Given the description of an element on the screen output the (x, y) to click on. 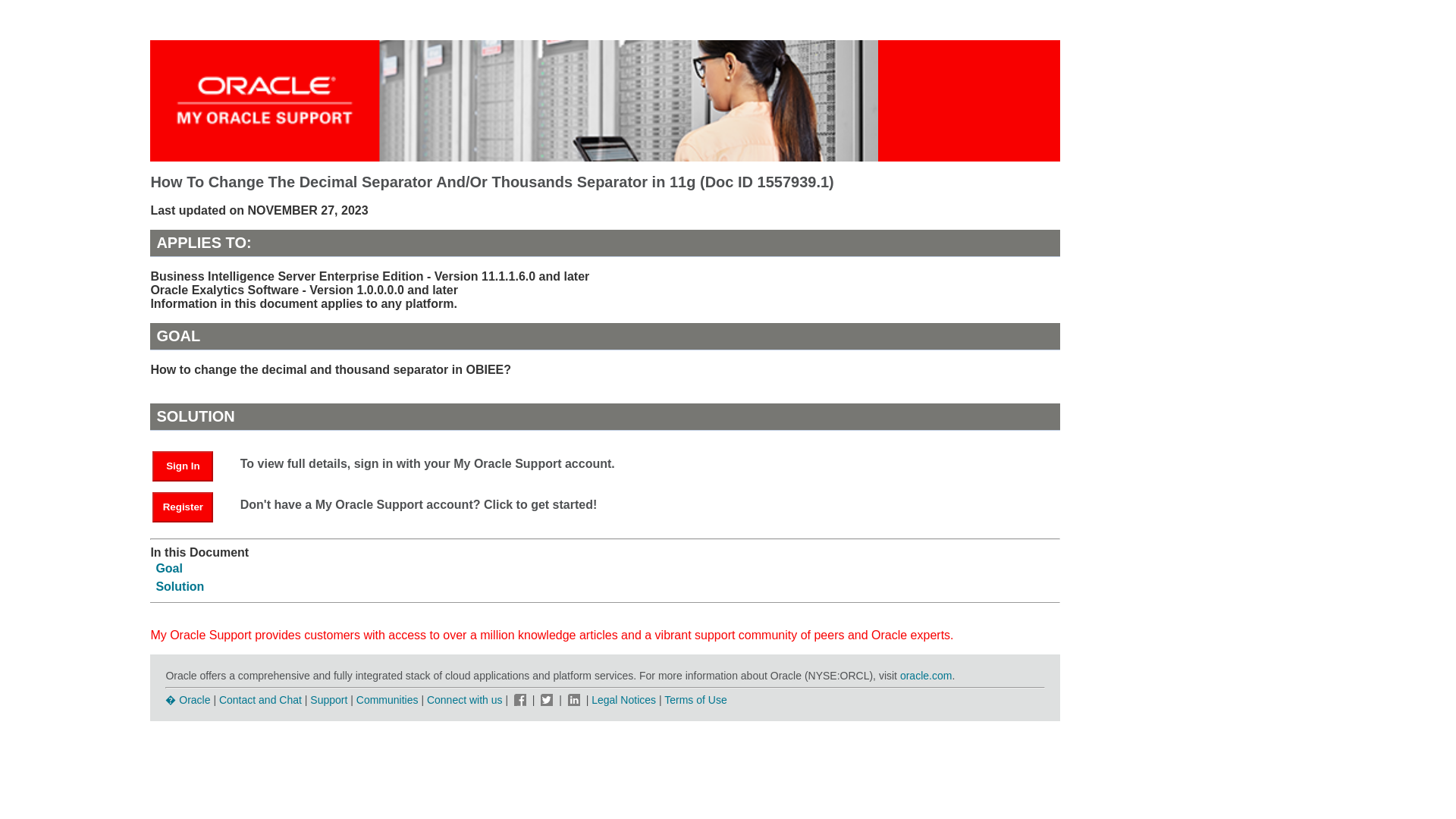
Support (328, 699)
Sign In (190, 464)
Solution (179, 585)
Communities (387, 699)
Goal (169, 567)
Legal Notices (623, 699)
Terms of Use (694, 699)
Contact and Chat (260, 699)
Sign In (182, 466)
oracle.com (925, 675)
Register (190, 505)
oracle.com (925, 675)
Register (182, 507)
Connect with us (465, 699)
